Given the description of an element on the screen output the (x, y) to click on. 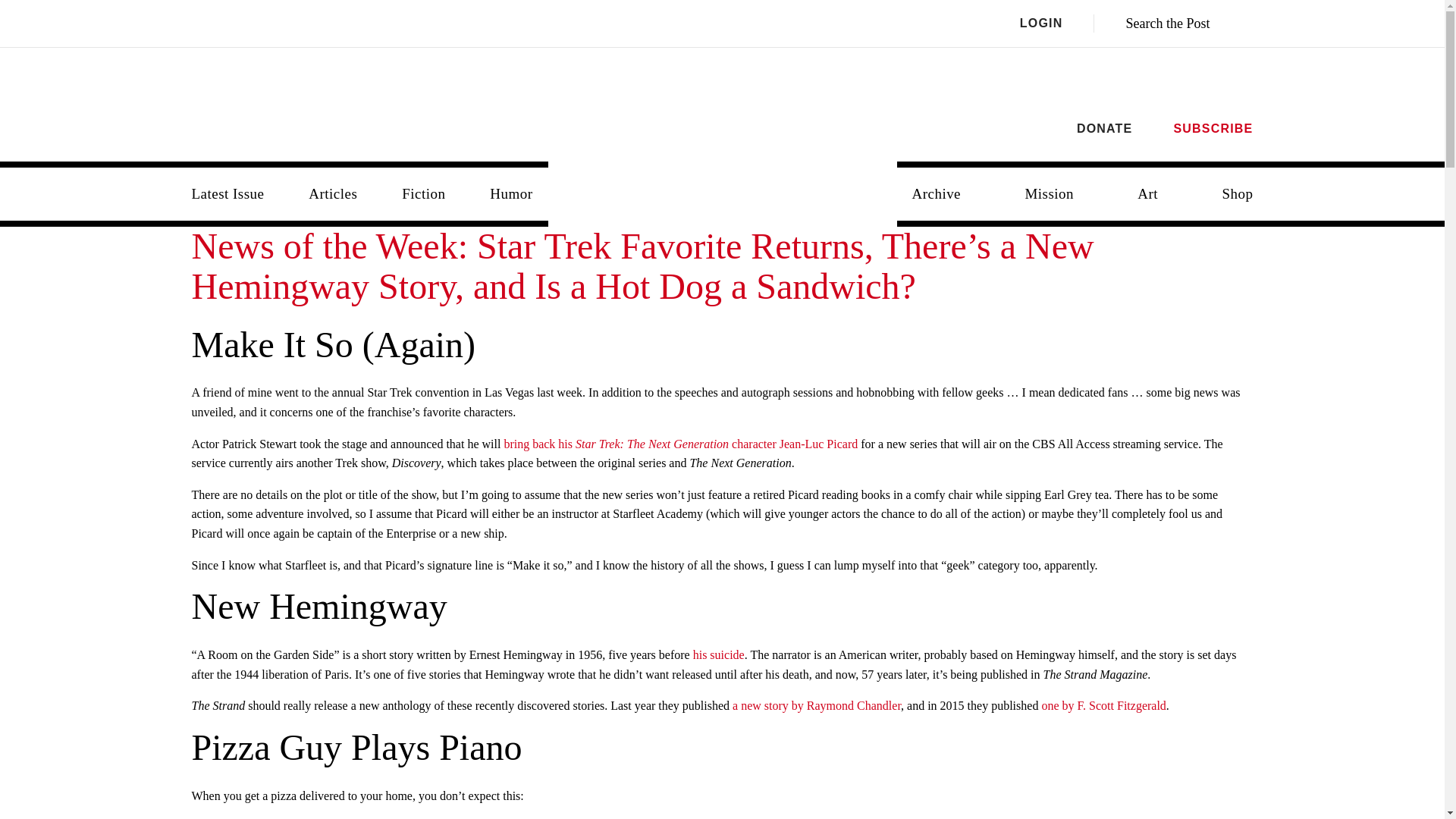
Art (1147, 193)
DONATE (1104, 128)
Shop (1237, 193)
Humor (510, 193)
Mission (1049, 193)
Latest Issue (227, 193)
Articles (333, 193)
The Saturday Evening Post (722, 181)
his suicide (718, 654)
LOGIN (1057, 23)
